Given the description of an element on the screen output the (x, y) to click on. 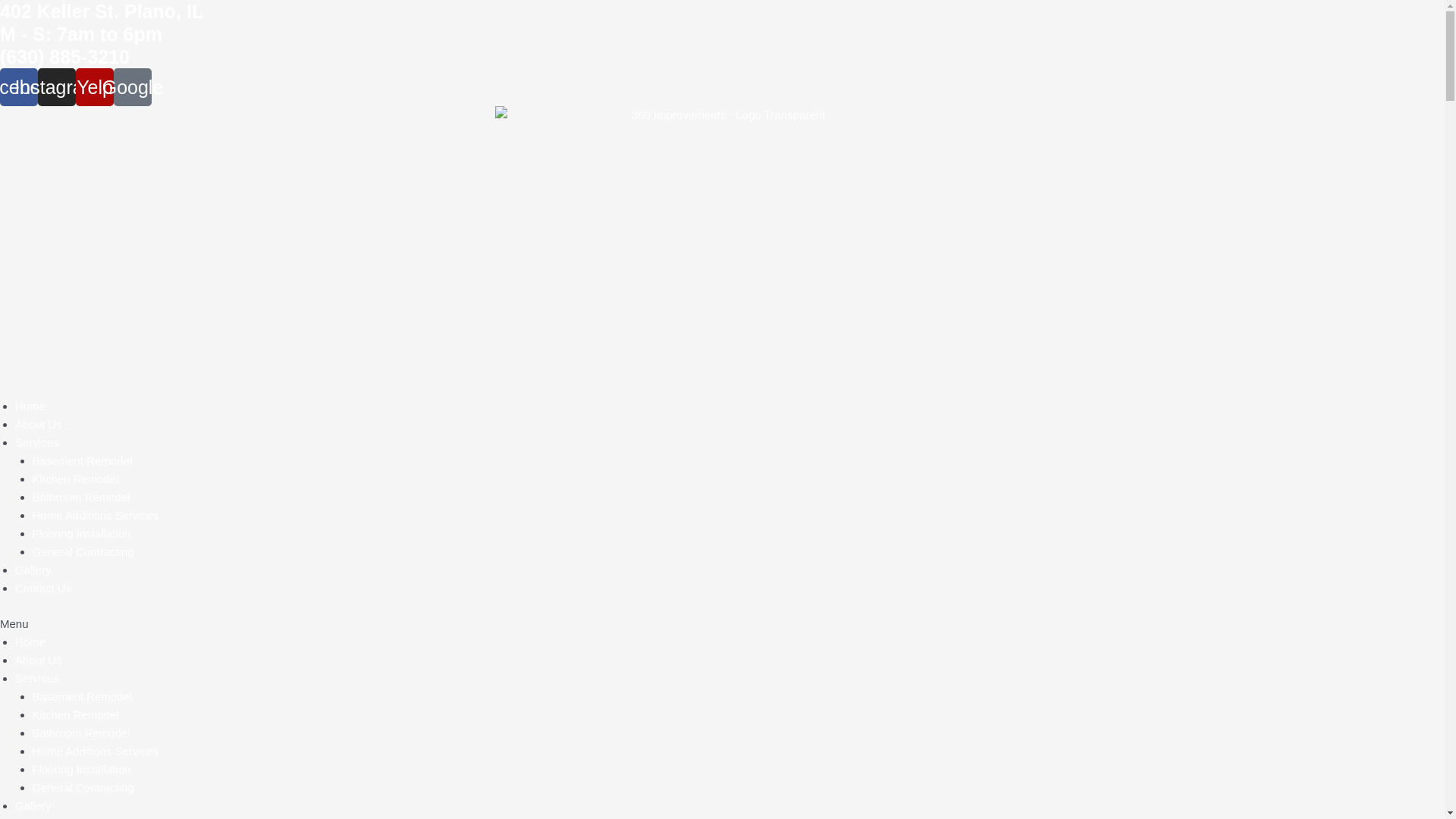
Kitchen Remodel Element type: text (74, 714)
About Us Element type: text (38, 423)
Yelp Element type: text (94, 87)
Flooring Installation Element type: text (80, 533)
Google Element type: text (132, 87)
Contact Us Element type: text (43, 587)
Home Additions Services Element type: text (94, 514)
Basement Remodel Element type: text (81, 696)
Bathroom Remodel Element type: text (80, 496)
Instagram Element type: text (56, 87)
Gallery Element type: text (33, 805)
(630) 885-3210 Element type: text (64, 56)
402 Keller St. Plano, IL Element type: text (101, 10)
Facebook Element type: text (18, 87)
Home Element type: text (30, 641)
Services Element type: text (37, 442)
Bathroom Remodel Element type: text (80, 732)
Home Additions Services Element type: text (94, 750)
Flooring Installation Element type: text (80, 768)
Services Element type: text (37, 677)
Basement Remodel Element type: text (81, 460)
Home Element type: text (30, 405)
General Contracting Element type: text (82, 551)
General Contracting Element type: text (82, 787)
About Us Element type: text (38, 659)
Gallery Element type: text (33, 569)
M - S: 7am to 6pm Element type: text (81, 33)
Kitchen Remodel Element type: text (74, 478)
